Given the description of an element on the screen output the (x, y) to click on. 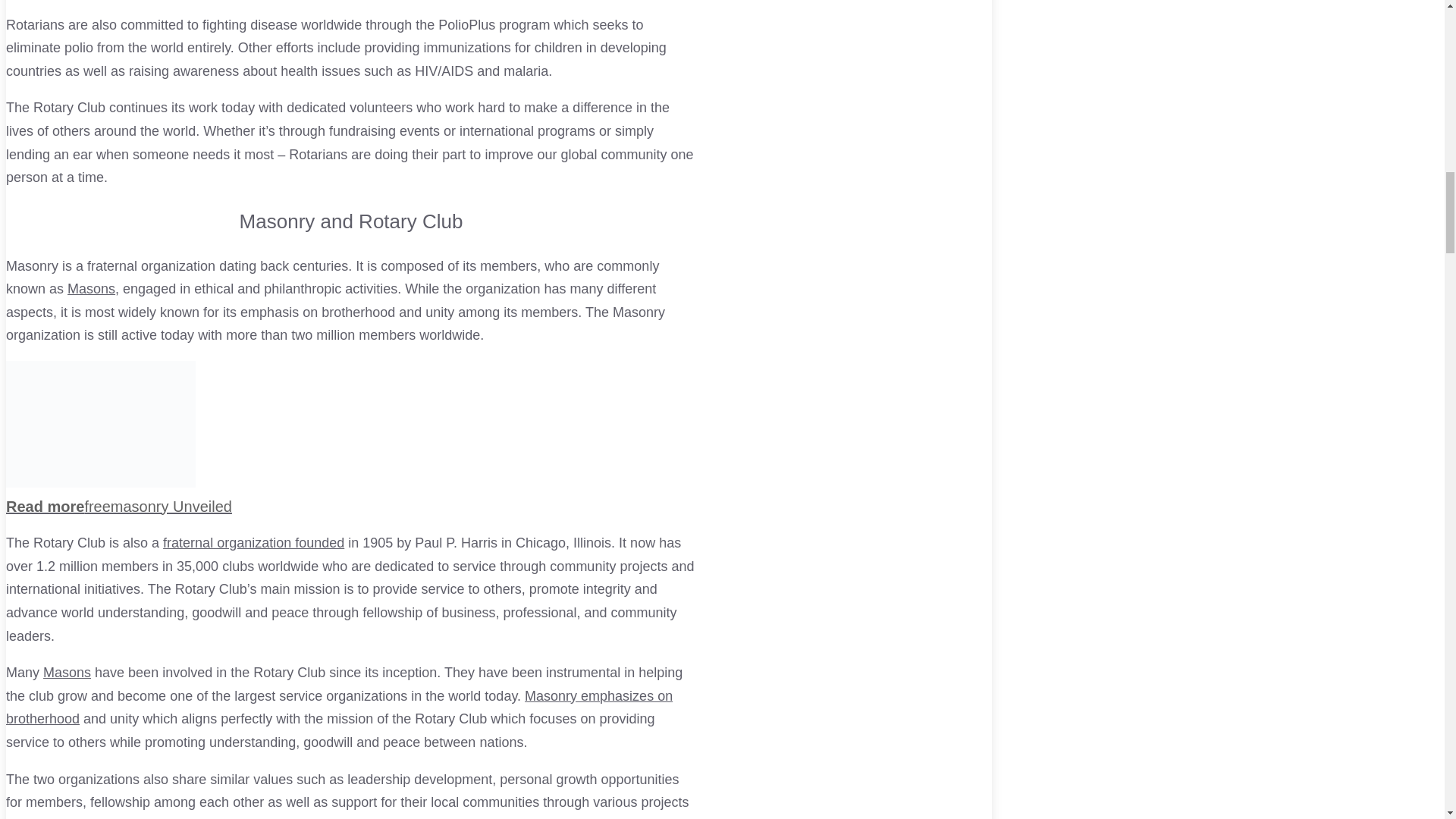
Mason Fraternity Founded (253, 542)
What Is Masonry Brotherhood (338, 707)
Masons (66, 672)
Masonry emphasizes on brotherhood (338, 707)
Masons (90, 288)
fraternal organization founded (253, 542)
Read morefreemasonry Unveiled (350, 496)
